Given the description of an element on the screen output the (x, y) to click on. 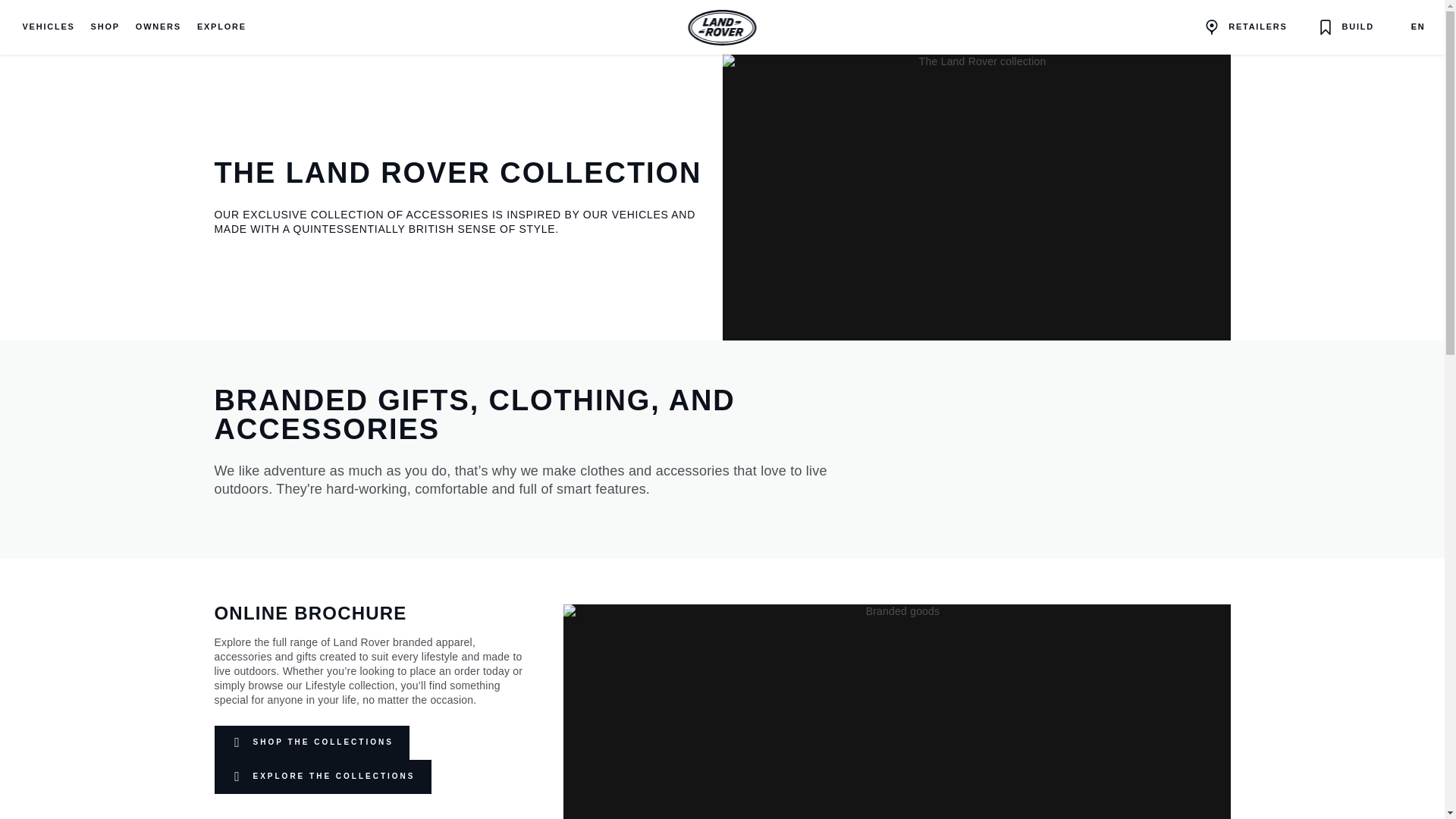
SHOP THE COLLECTIONS (311, 742)
BUILD (1346, 27)
EXPLORE THE COLLECTIONS (322, 776)
EXPLORE (221, 27)
RETAILERS (1245, 27)
OWNERS (158, 27)
VEHICLES (48, 27)
